Given the description of an element on the screen output the (x, y) to click on. 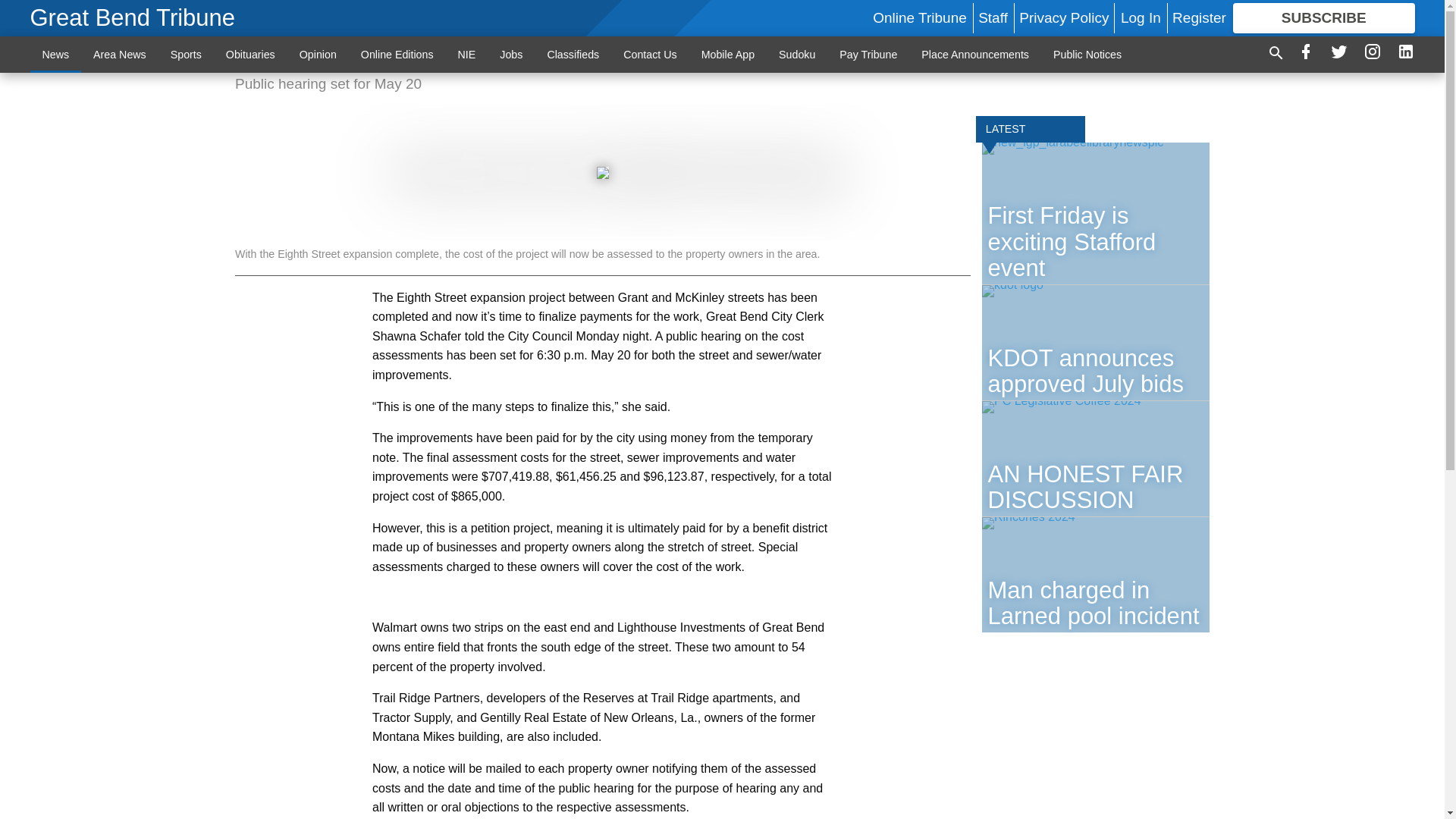
SUBSCRIBE (1324, 18)
Log In (1140, 17)
Privacy Policy (1063, 17)
Online Tribune (919, 17)
Register (1198, 17)
Staff (992, 17)
Great Bend Tribune (132, 17)
